Given the description of an element on the screen output the (x, y) to click on. 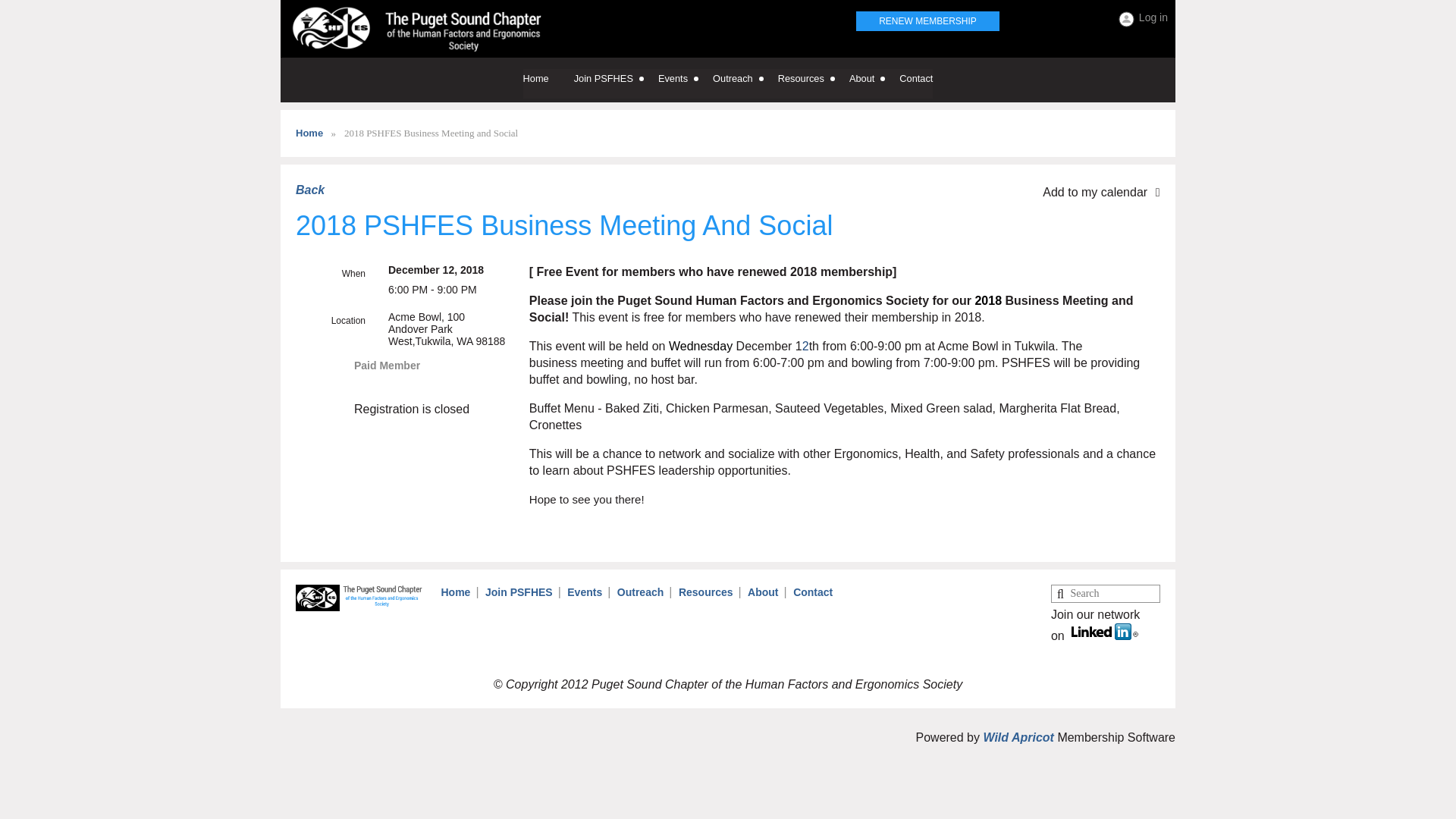
Home (547, 82)
Join PSFHES (615, 82)
Home (547, 82)
Join PSFHES (615, 82)
Log in (1142, 19)
Events (685, 82)
RENEW MEMBERSHIP (927, 21)
Events (685, 82)
